Given the description of an element on the screen output the (x, y) to click on. 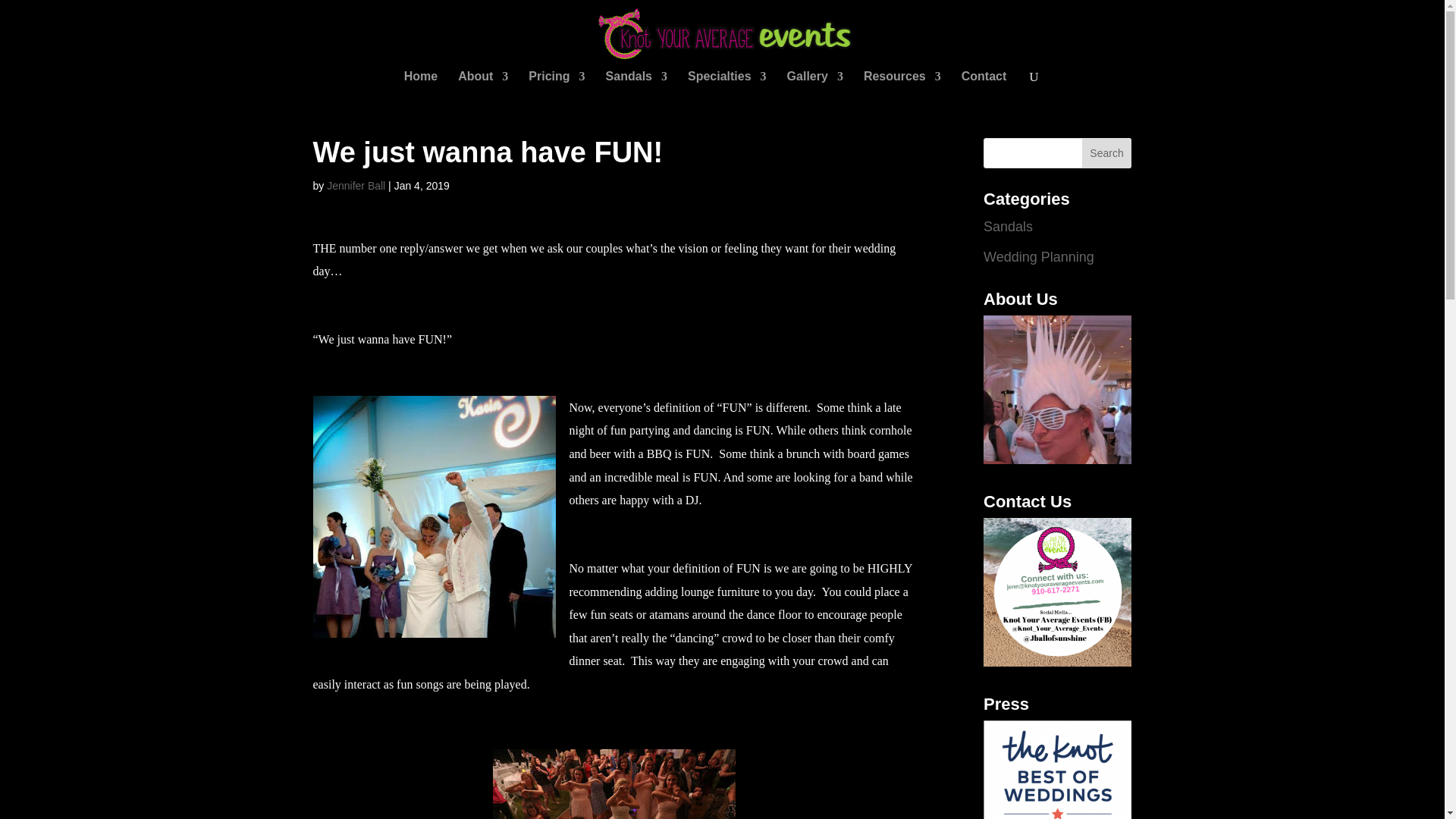
Posts by Jennifer Ball (355, 185)
About (483, 82)
Home (421, 82)
Pricing (556, 82)
Sandals (635, 82)
Specialties (727, 82)
Search (1106, 153)
